Given the description of an element on the screen output the (x, y) to click on. 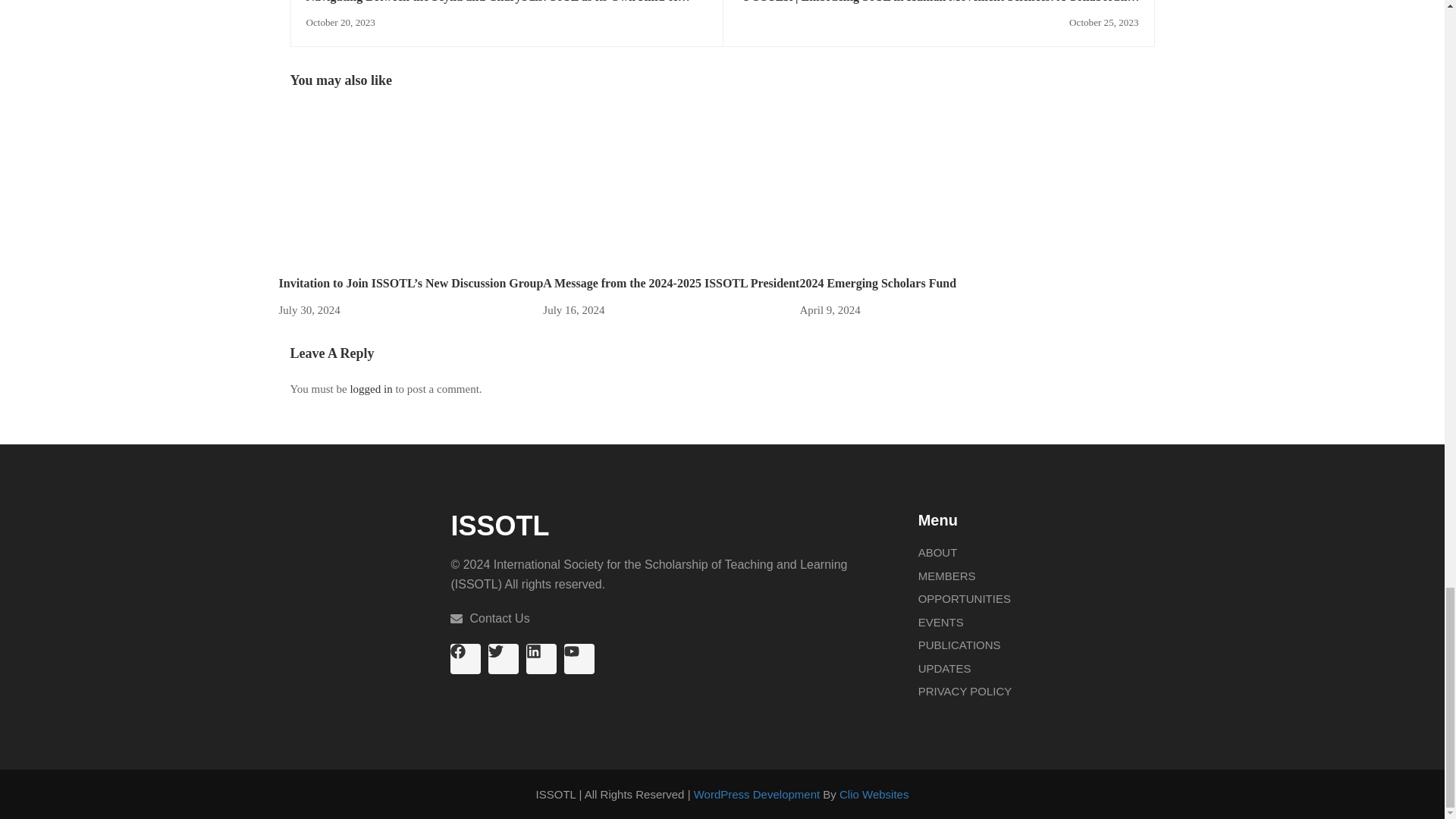
2024 Emerging Scholars Fund (912, 188)
A Message from the 2024-2025 ISSOTL President (656, 188)
team-3 (354, 190)
book-2 (912, 190)
Melanie Hamilton (656, 190)
